Given the description of an element on the screen output the (x, y) to click on. 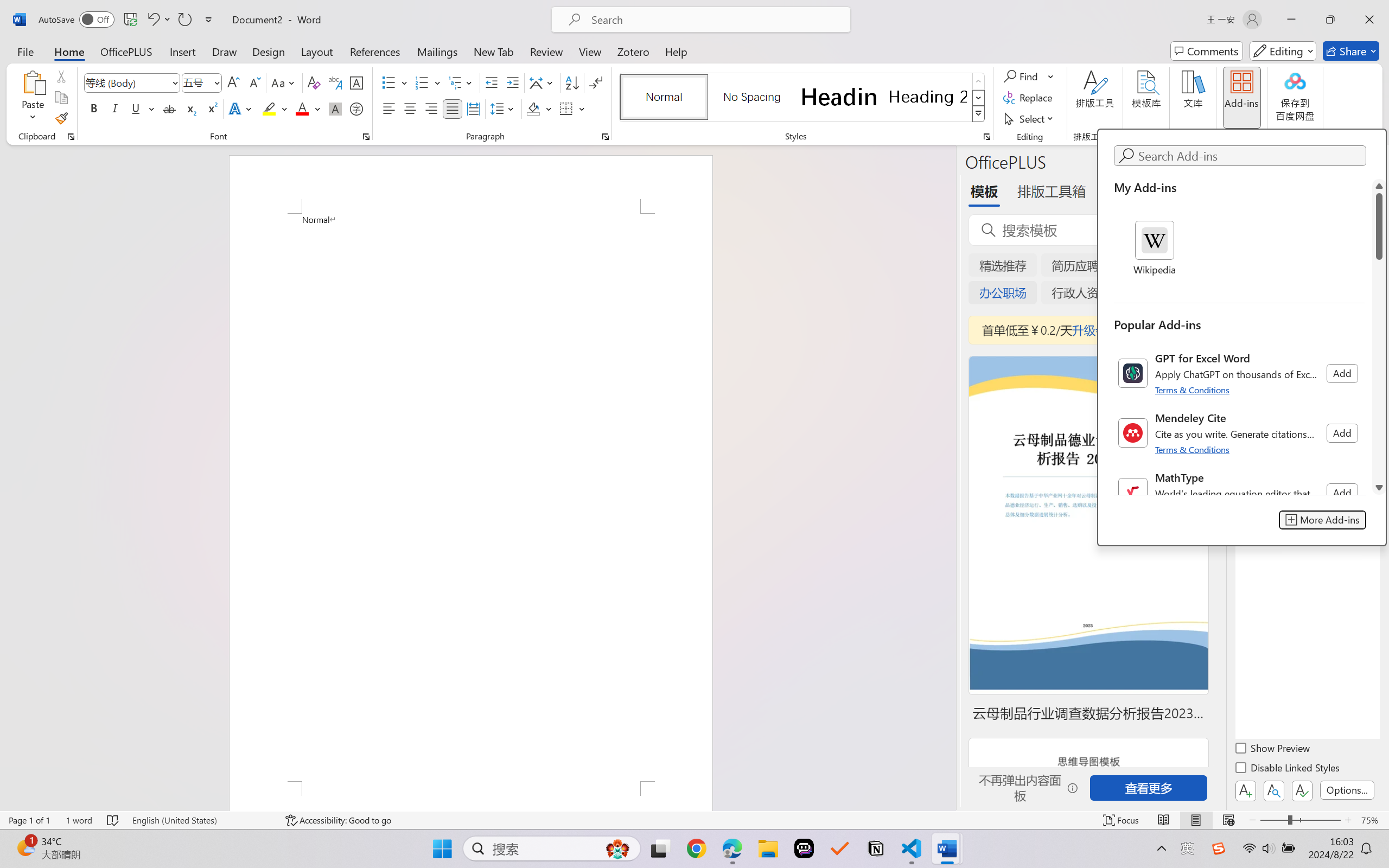
Replace... (1029, 97)
Line down (1379, 487)
More Options (1051, 75)
Row Down (978, 97)
Find (1029, 75)
Page 1 content (470, 497)
Row up (978, 81)
Cut (60, 75)
Class: NetUIImage (1133, 492)
Grow Font (233, 82)
Font Size (196, 82)
